Given the description of an element on the screen output the (x, y) to click on. 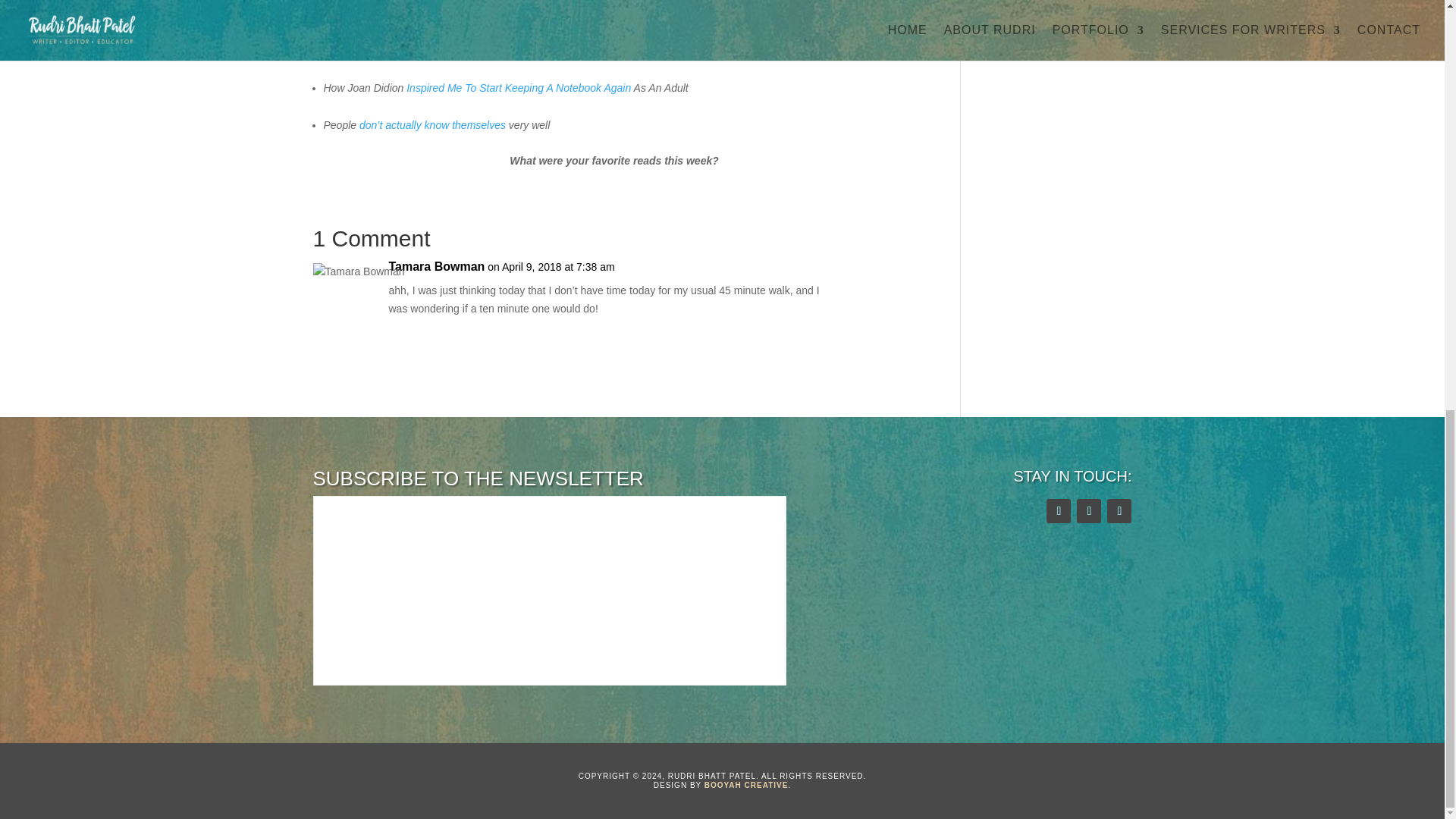
Follow on X (1058, 510)
Tamara Bowman (436, 266)
Follow on LinkedIn (1118, 510)
BOOYAH CREATIVE (746, 785)
36 Questions (354, 13)
Inspired Me To Start Keeping A Notebook Again (518, 87)
Follow on Facebook (1088, 510)
many hours does it take (403, 50)
